Given the description of an element on the screen output the (x, y) to click on. 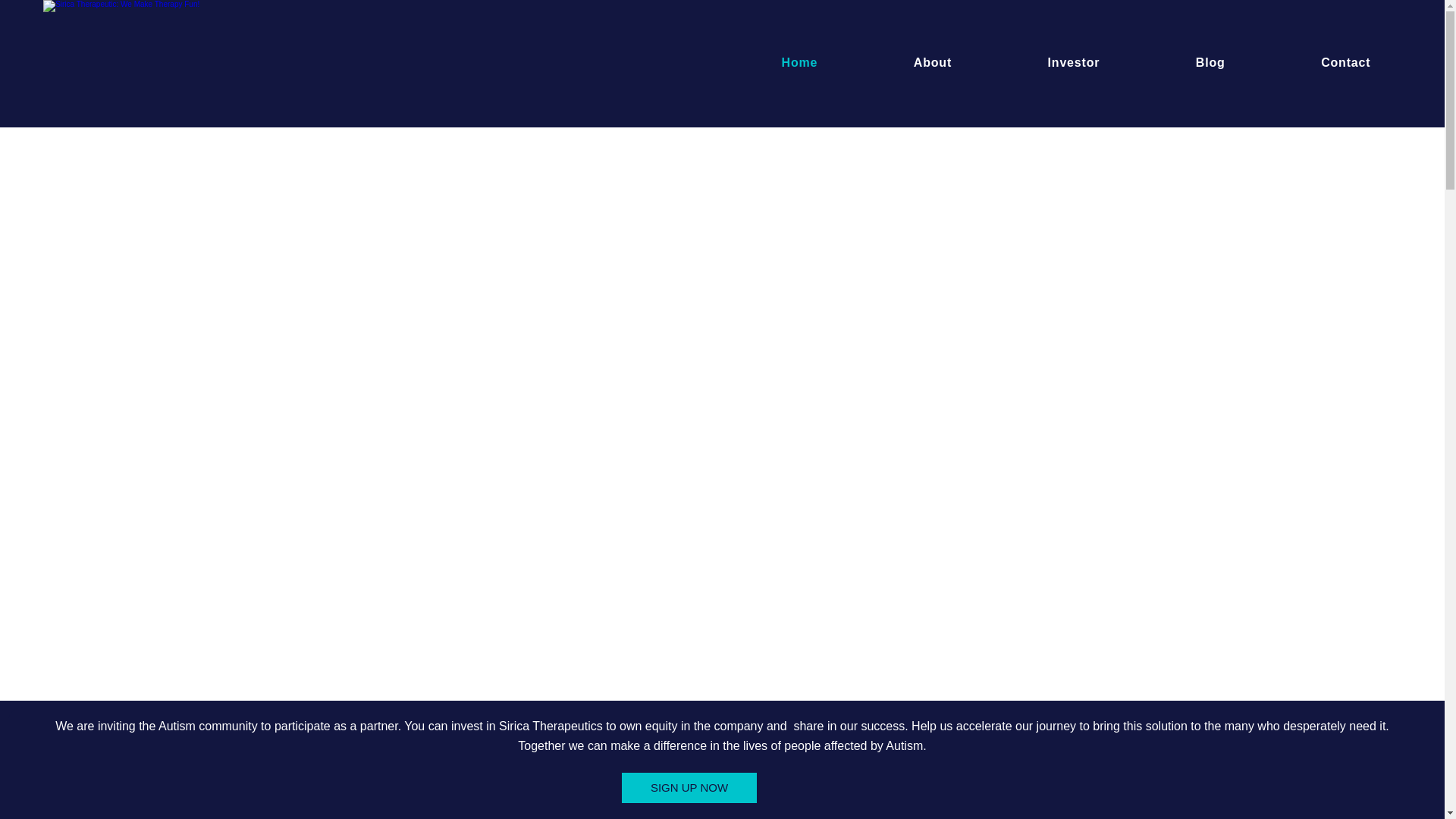
Blog (1210, 61)
Contact (1345, 61)
About (1075, 61)
SIGN UP NOW (933, 61)
Home (689, 788)
Investor (798, 61)
